Given the description of an element on the screen output the (x, y) to click on. 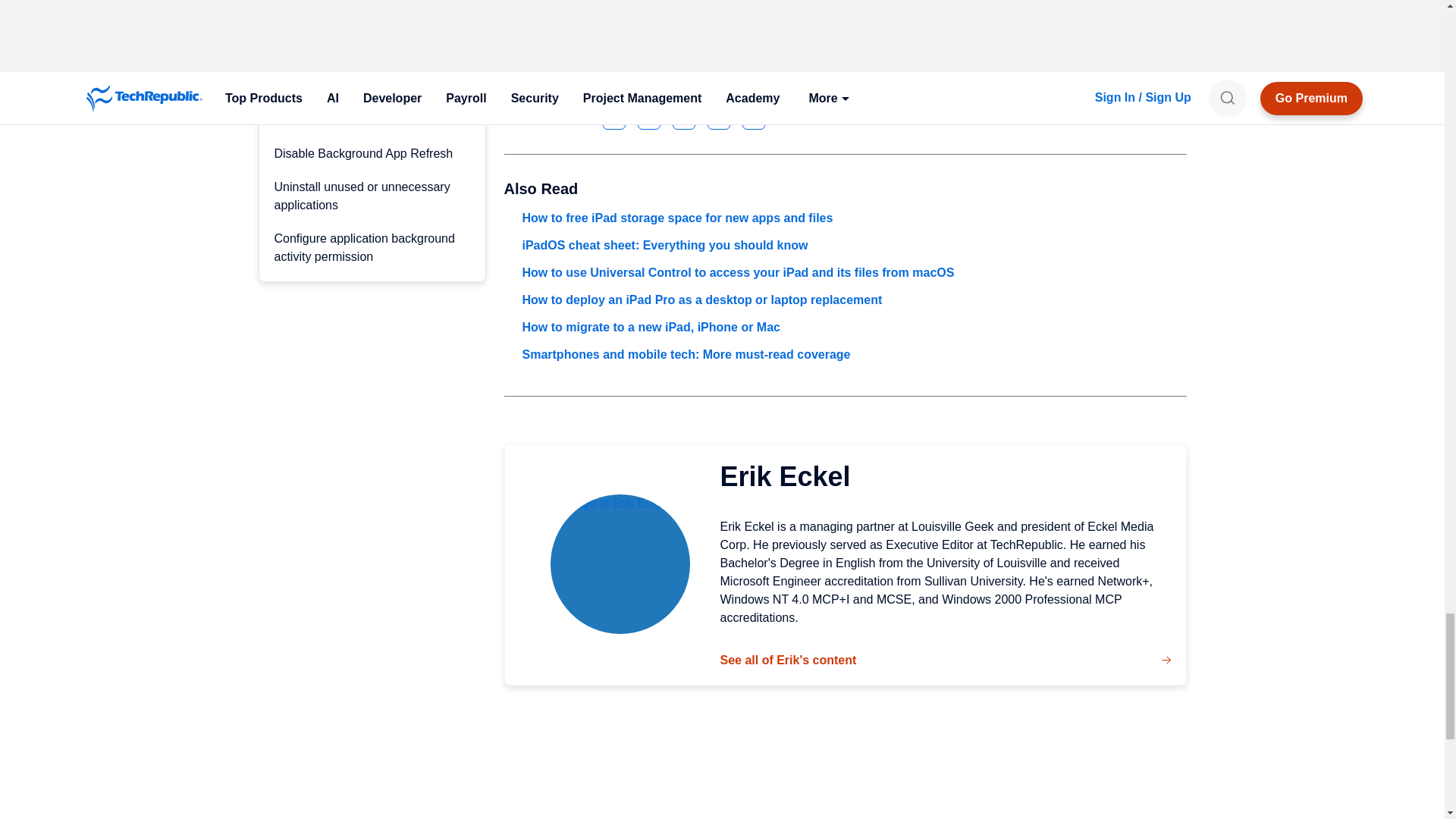
on (508, 10)
